Given the description of an element on the screen output the (x, y) to click on. 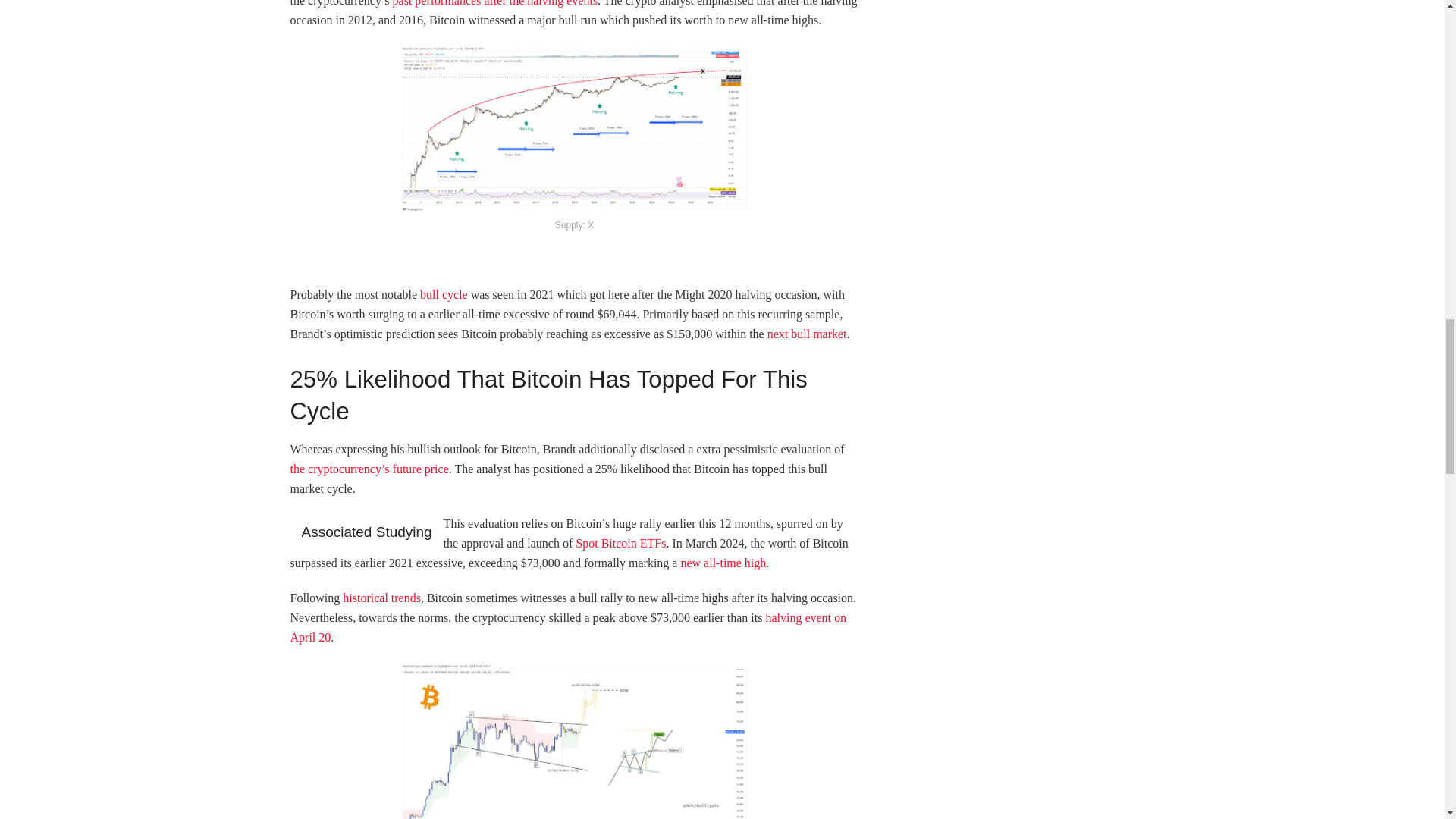
historical trends (381, 597)
new all-time high (722, 562)
next bull market (807, 333)
bull cycle (443, 294)
Spot Bitcoin ETFs (620, 543)
halving event on April 20 (567, 626)
past performances after the halving events (495, 3)
